Given the description of an element on the screen output the (x, y) to click on. 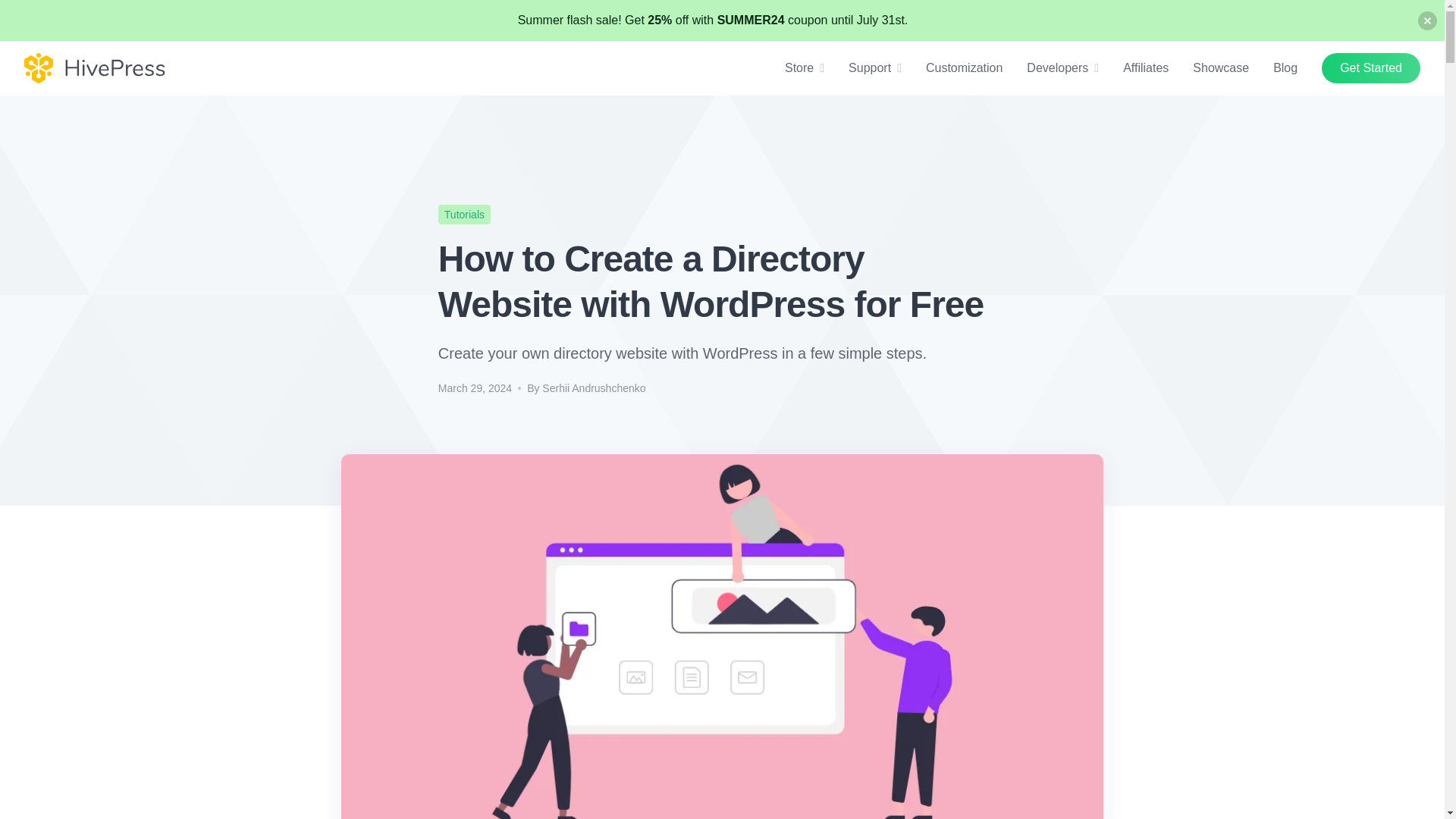
Affiliates (1145, 67)
Developers (1056, 67)
Customization (964, 67)
Showcase (1220, 67)
Blog (1284, 67)
Support (869, 67)
Get Started (1371, 68)
Store (798, 67)
